Given the description of an element on the screen output the (x, y) to click on. 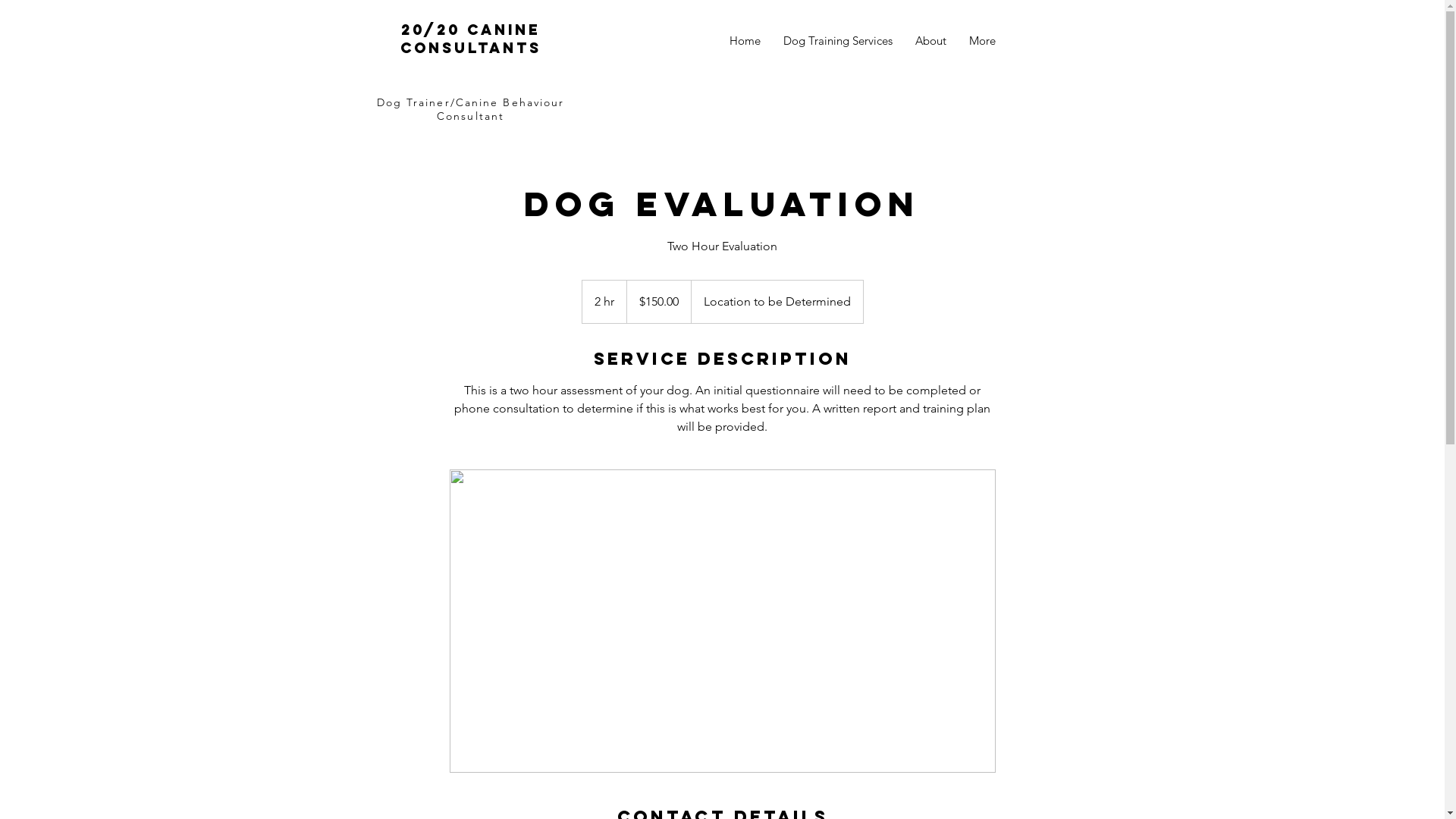
20/20 Canine consultants Element type: text (470, 38)
Dog Trainer/Canine Behaviour Consultant Element type: text (470, 108)
About Element type: text (930, 40)
Dog Training Services Element type: text (837, 40)
Home Element type: text (744, 40)
